Given the description of an element on the screen output the (x, y) to click on. 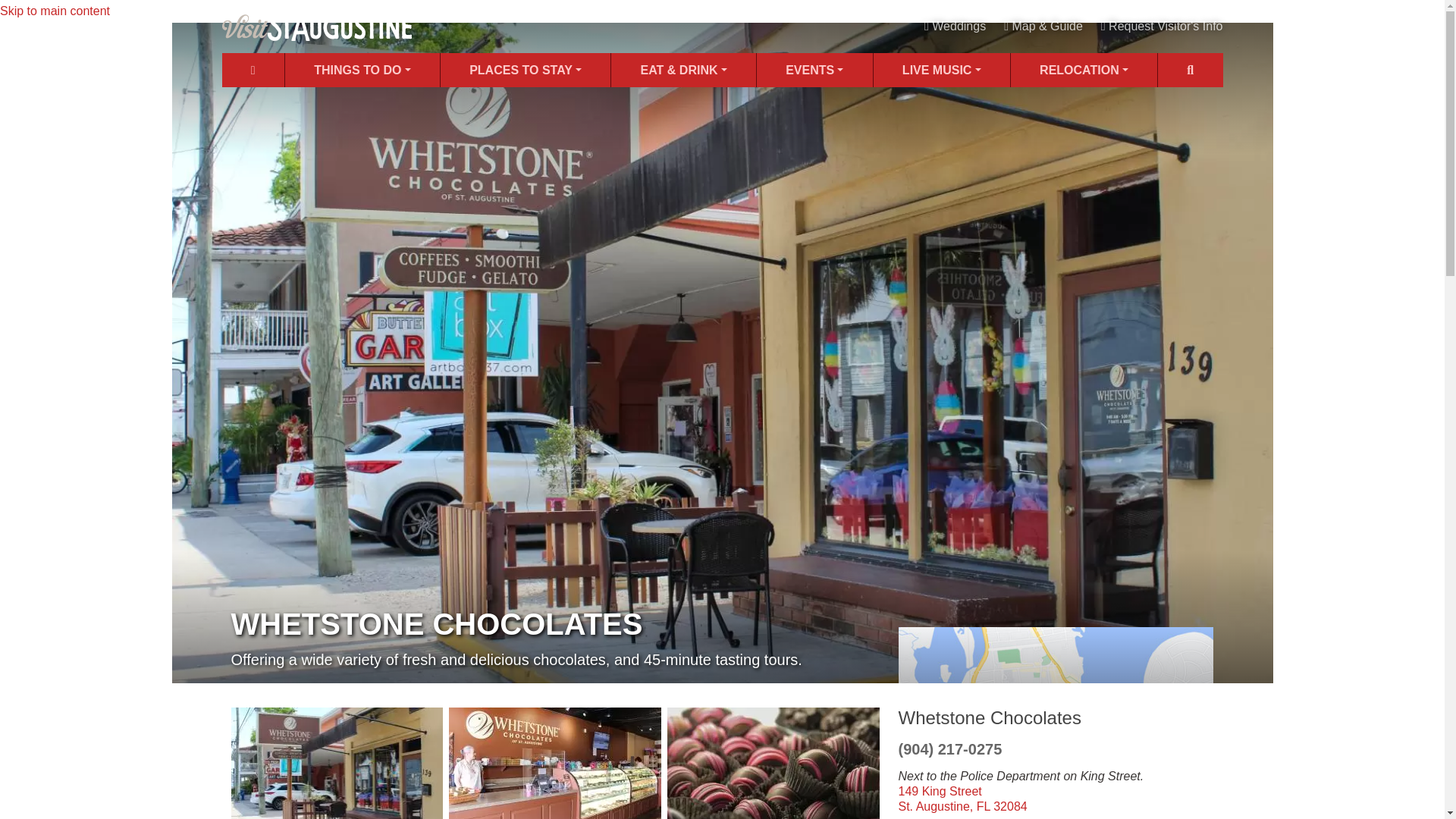
Discover your Perfect Florida Lifestyle (1083, 69)
THINGS TO DO (362, 69)
The entrance of Whetstone Chocolates on King Street (336, 763)
PLACES TO STAY (525, 69)
Get directions to Whetstone Chocolates on Google Maps (1055, 721)
Weddings (954, 25)
Delicious drizzled chocolates at Whetstone Chocolates (772, 763)
Get directions to Whetstone Chocolates on Google Maps (962, 798)
Request Visitor's Info (1161, 25)
Search (1190, 69)
